Given the description of an element on the screen output the (x, y) to click on. 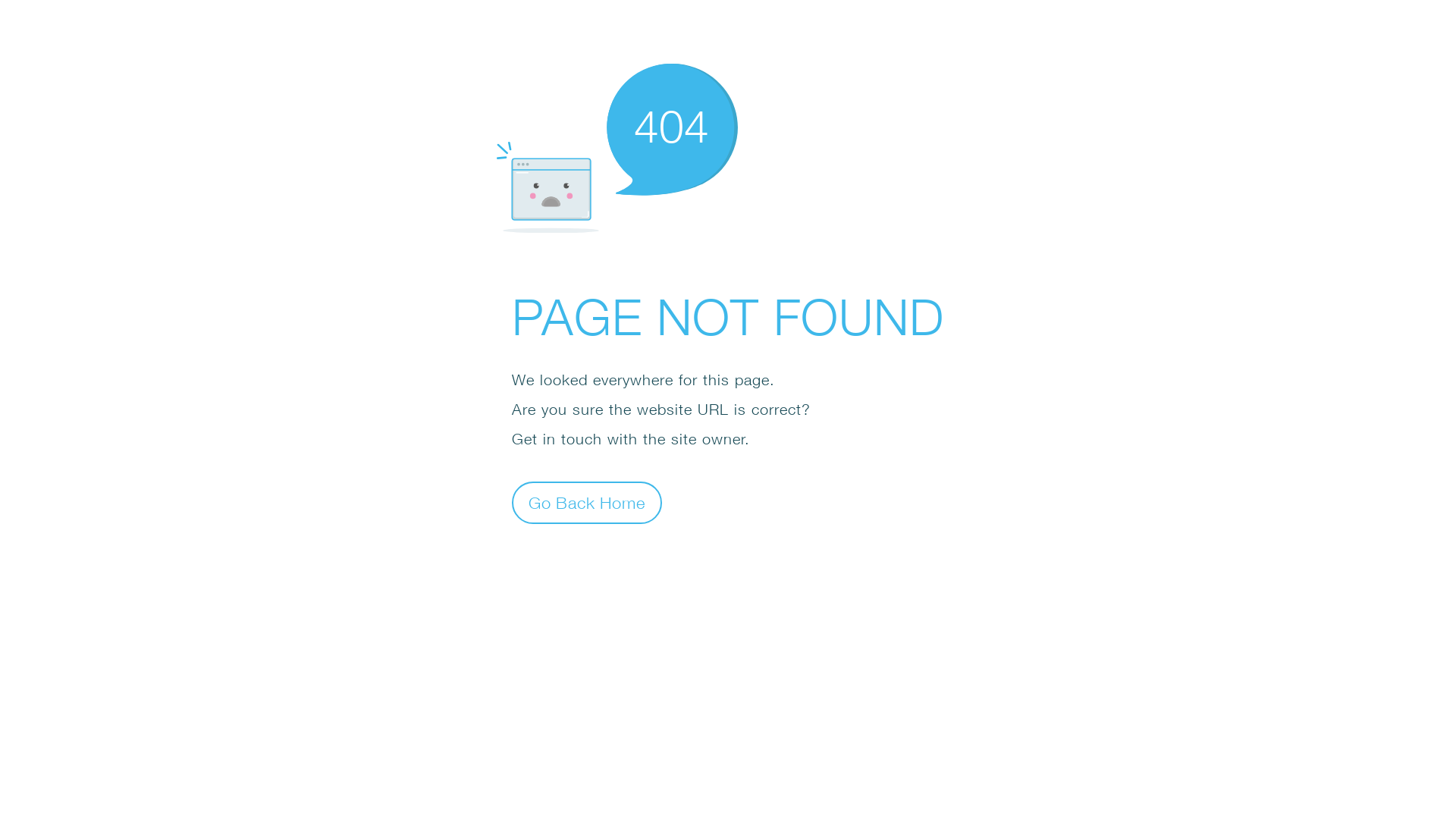
Go Back Home Element type: text (586, 502)
